Given the description of an element on the screen output the (x, y) to click on. 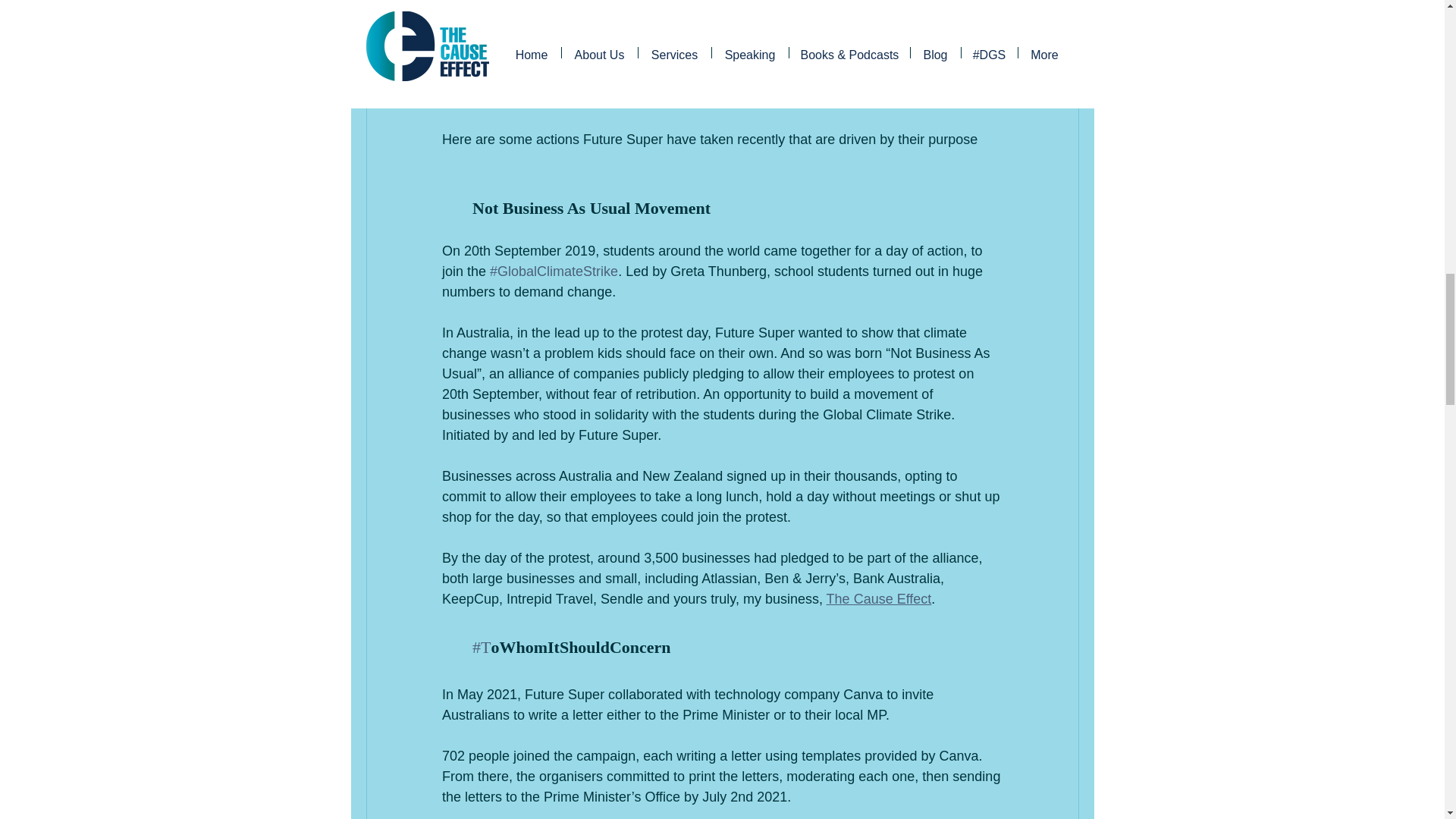
The Cause Effect (878, 598)
Listen to our podcast interview with Future Super (722, 86)
